Given the description of an element on the screen output the (x, y) to click on. 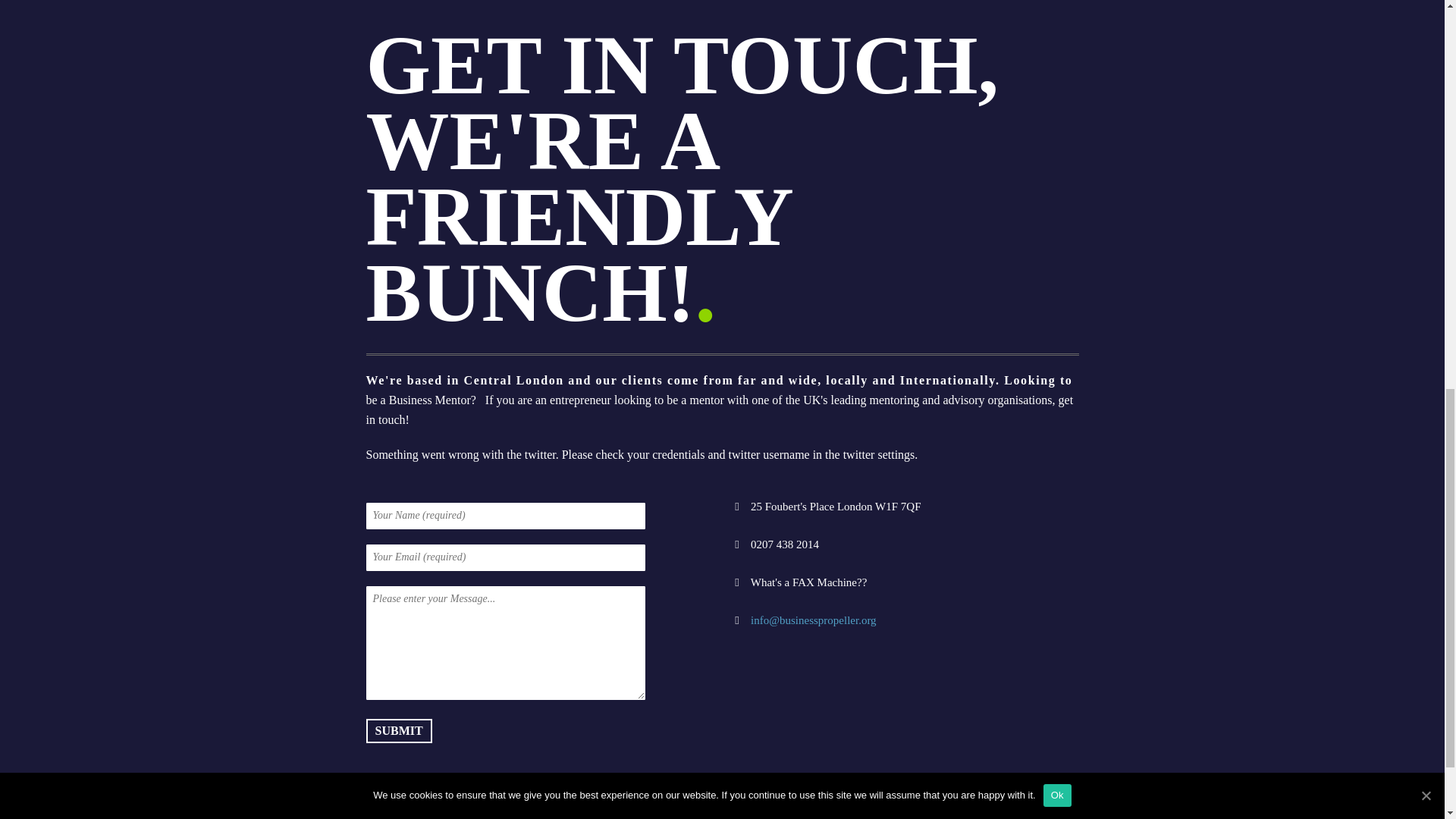
Submit (397, 730)
Submit (397, 730)
